Given the description of an element on the screen output the (x, y) to click on. 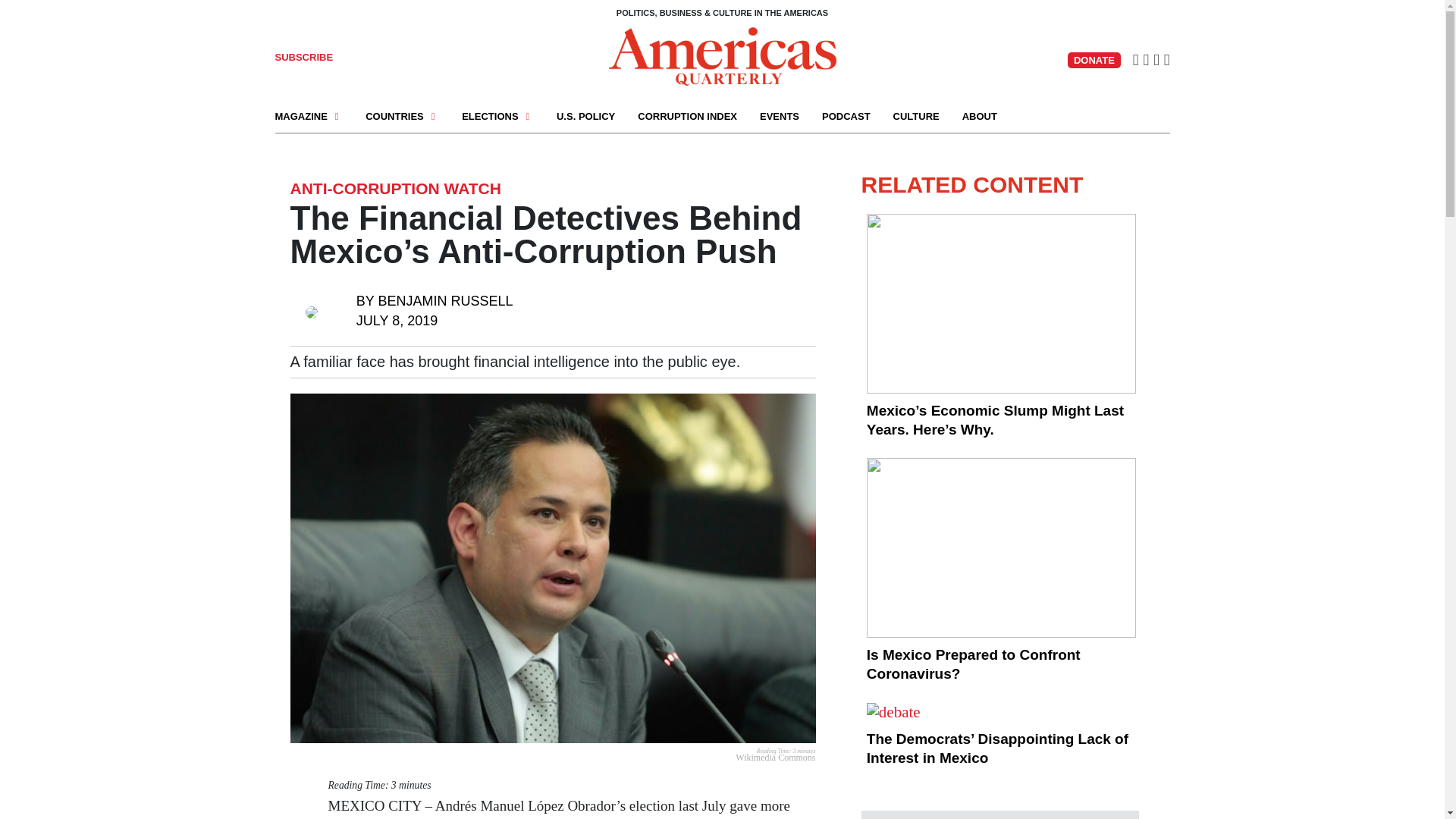
SUBSCRIBE (304, 57)
Americas Quarterly (721, 56)
DONATE (1094, 59)
Americas Quarterly (721, 54)
